Given the description of an element on the screen output the (x, y) to click on. 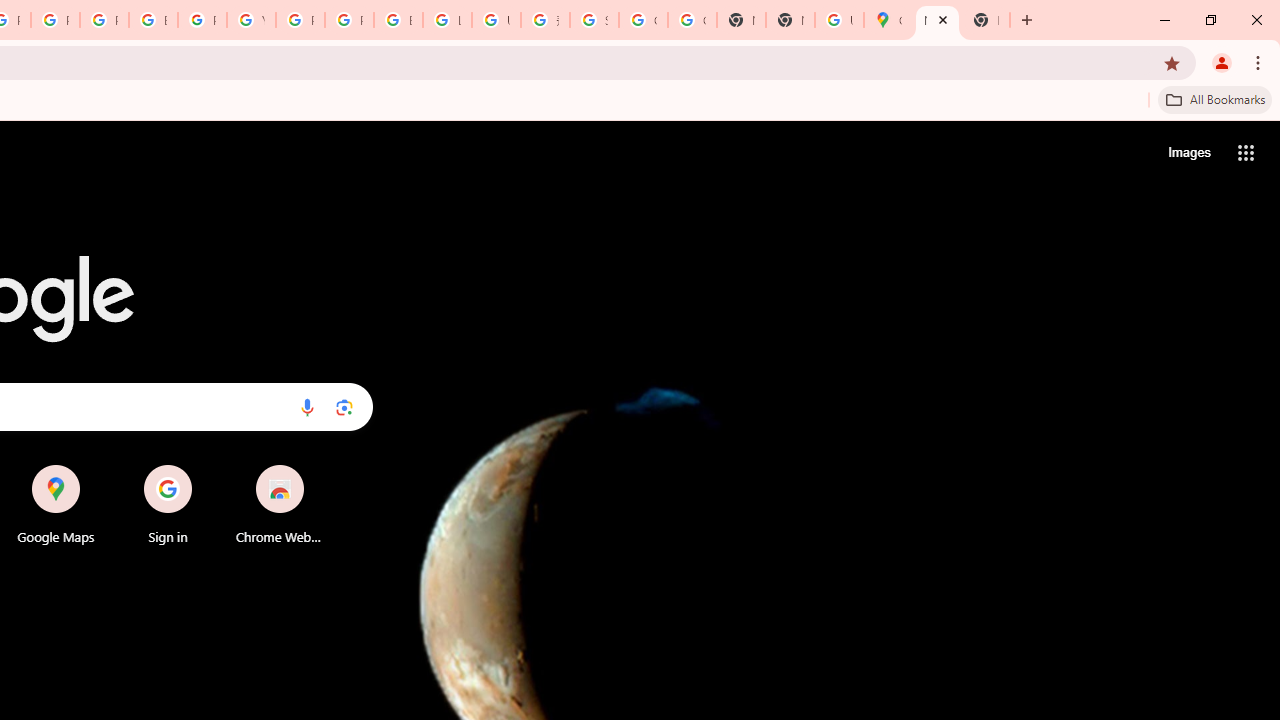
Sign in - Google Accounts (594, 20)
Google Maps (888, 20)
New Tab (790, 20)
Remove (319, 466)
